Given the description of an element on the screen output the (x, y) to click on. 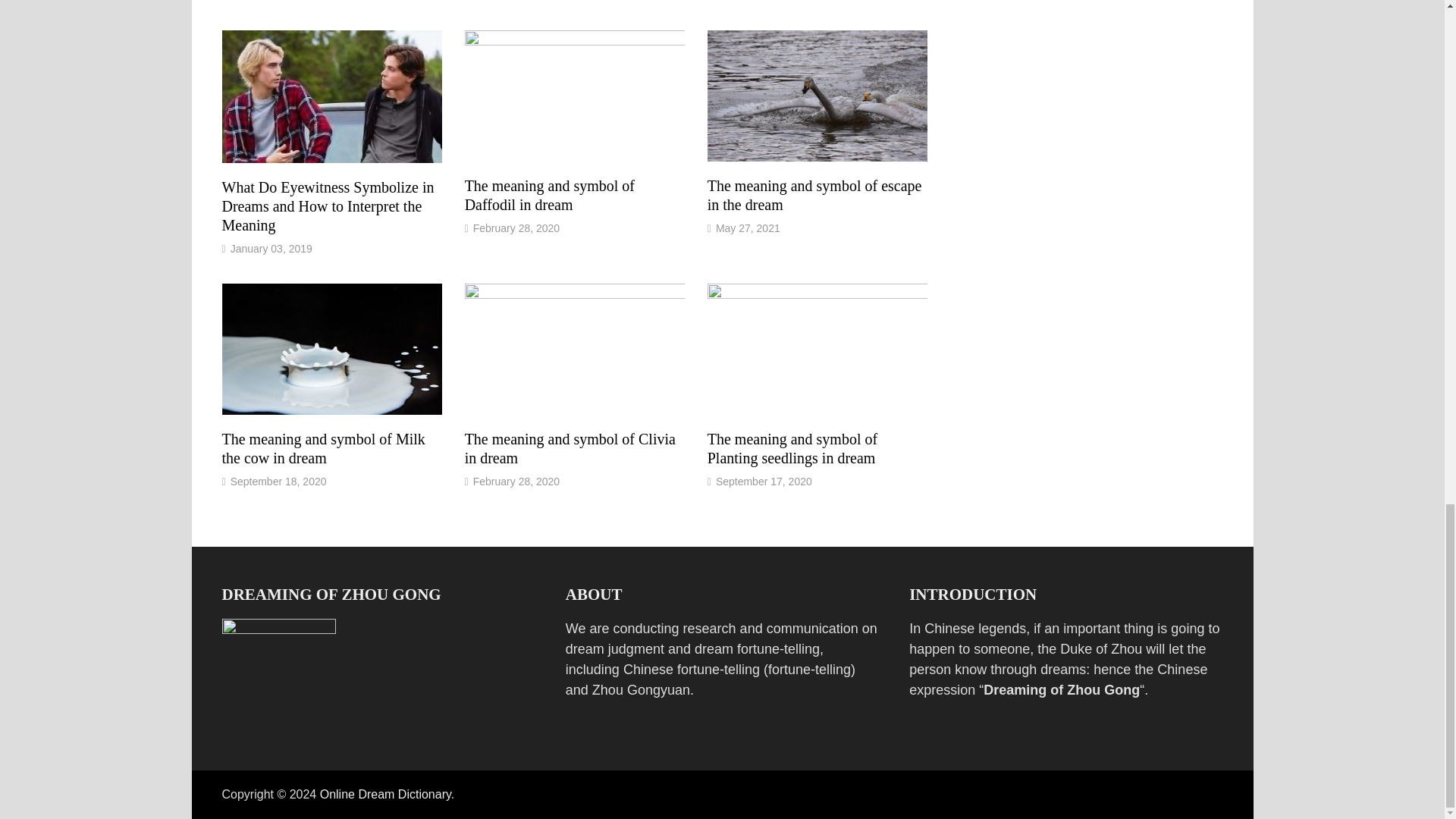
The meaning and symbol of escape in the dream (814, 194)
The meaning and symbol of Clivia in dream (569, 448)
The meaning and symbol of Daffodil in dream (549, 194)
Online Dream Dictionary (385, 793)
September 18, 2020 (278, 481)
February 28, 2020 (516, 481)
February 28, 2020 (516, 227)
The meaning and symbol of Milk the cow in dream (323, 448)
May 27, 2021 (748, 227)
